Given the description of an element on the screen output the (x, y) to click on. 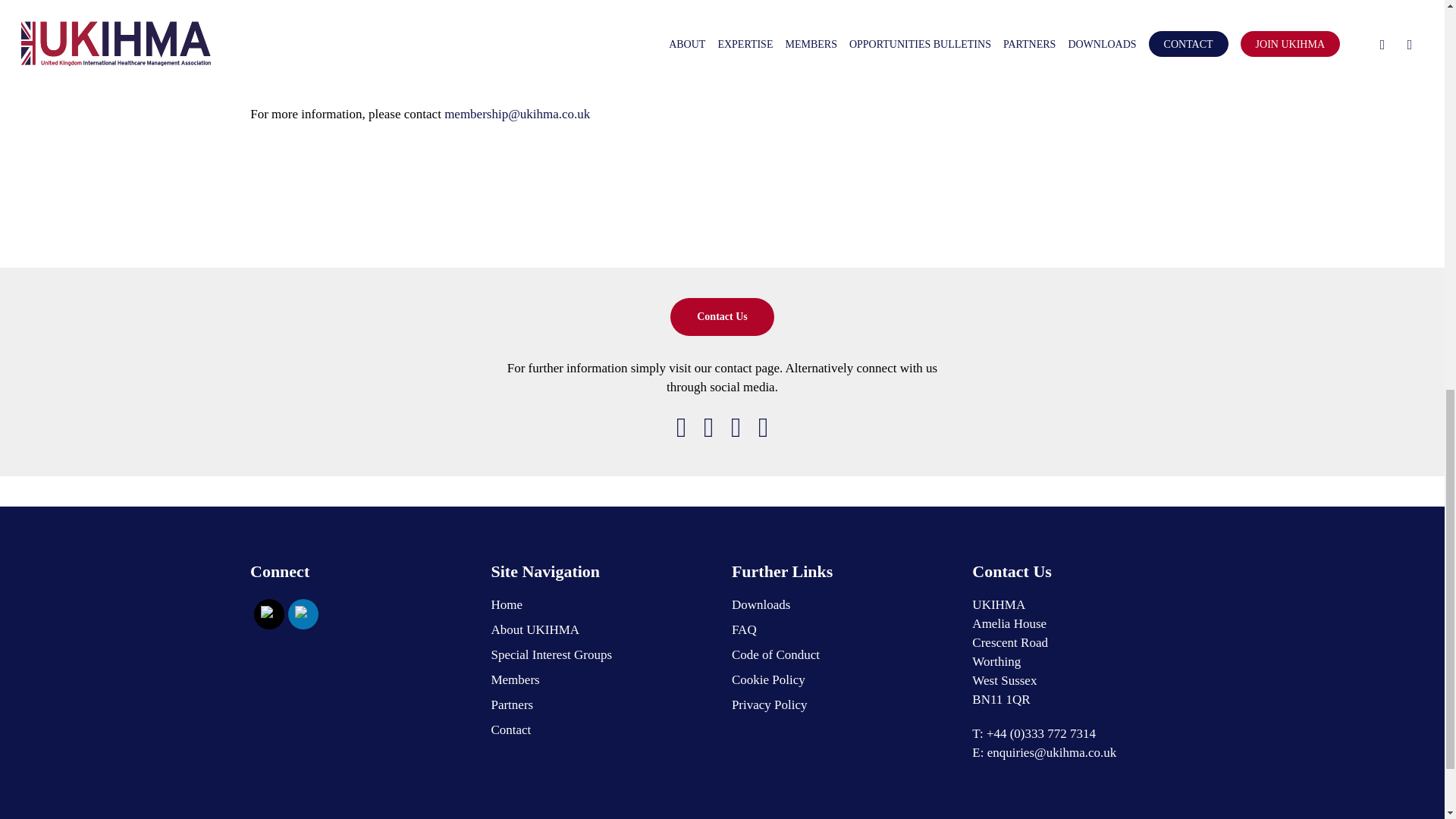
About UKIHMA (601, 629)
Members (601, 679)
Twitter (269, 614)
Special Interest Groups (601, 654)
LinkedIn (303, 614)
Home (601, 604)
Contact Us (721, 316)
